Given the description of an element on the screen output the (x, y) to click on. 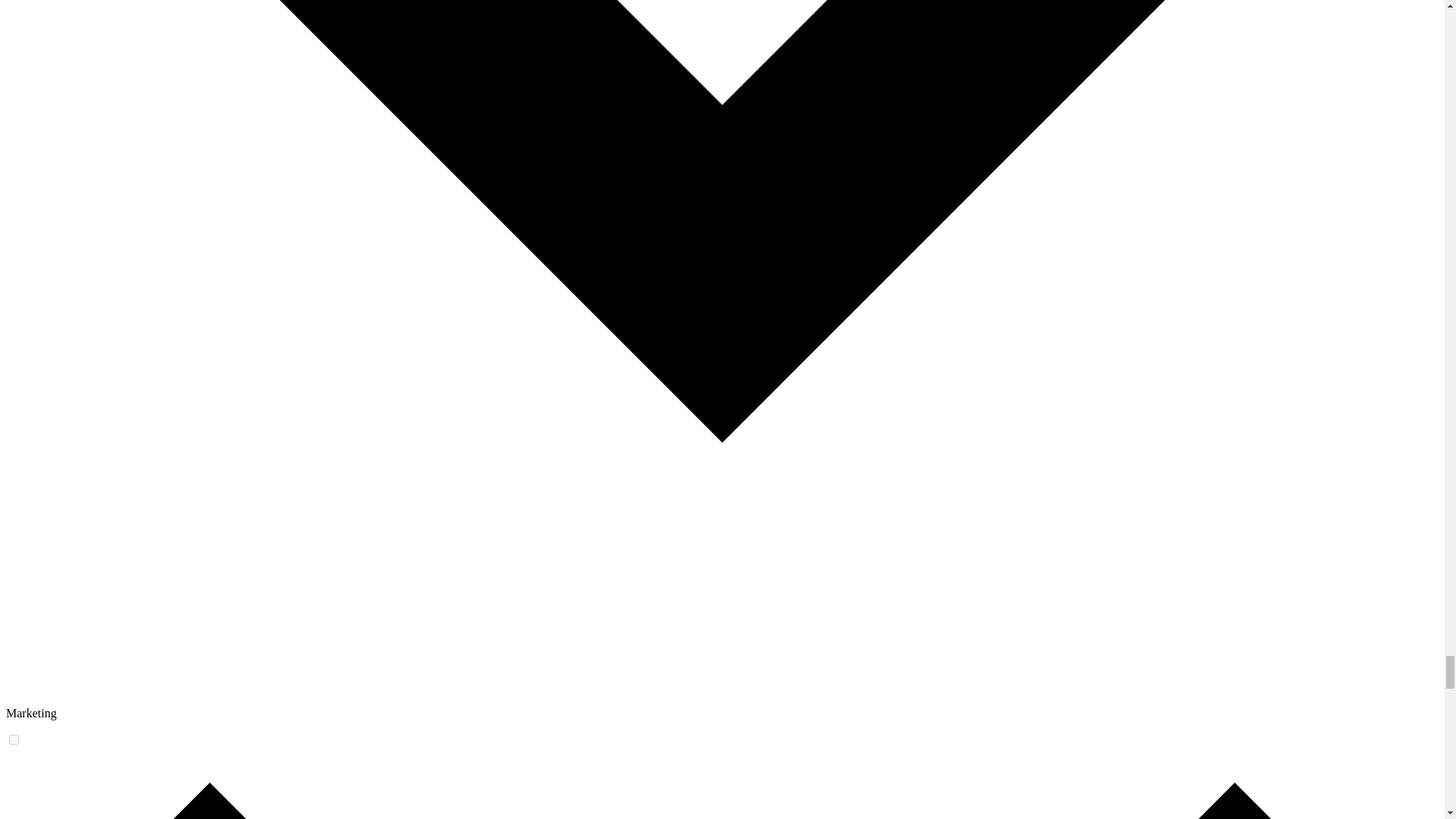
on (13, 739)
